Given the description of an element on the screen output the (x, y) to click on. 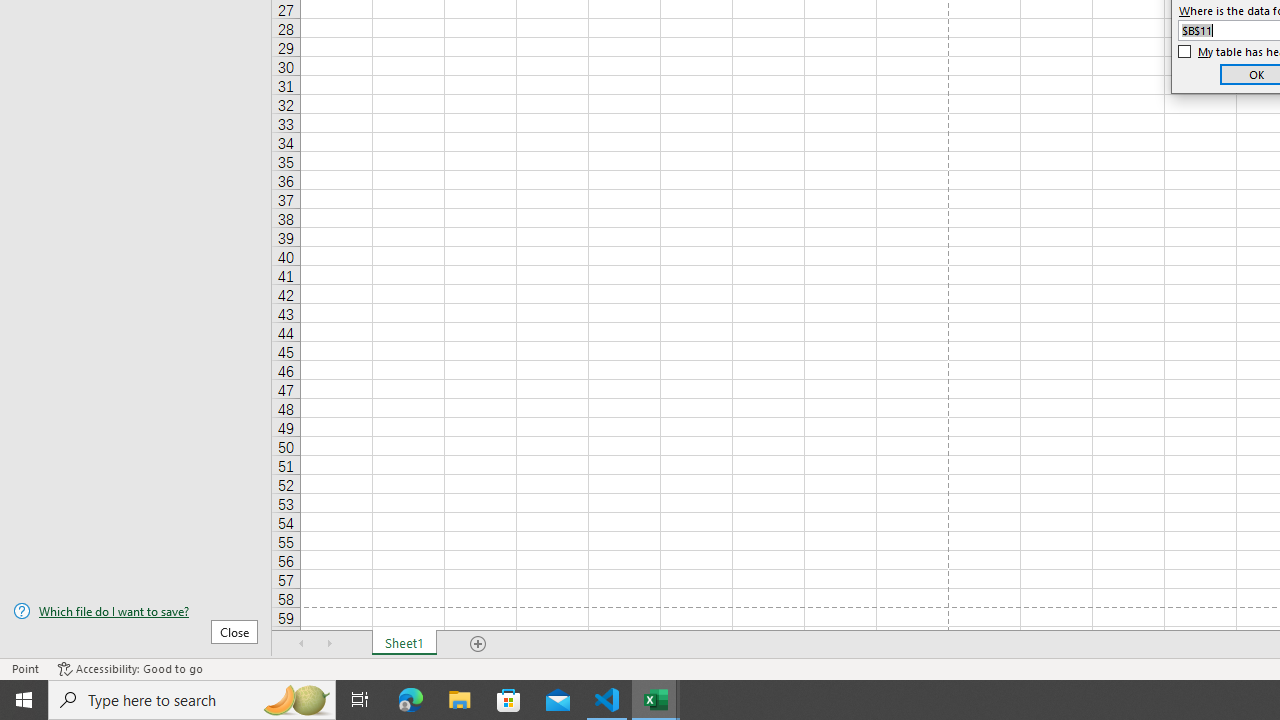
Task View (359, 699)
File Explorer (460, 699)
